Given the description of an element on the screen output the (x, y) to click on. 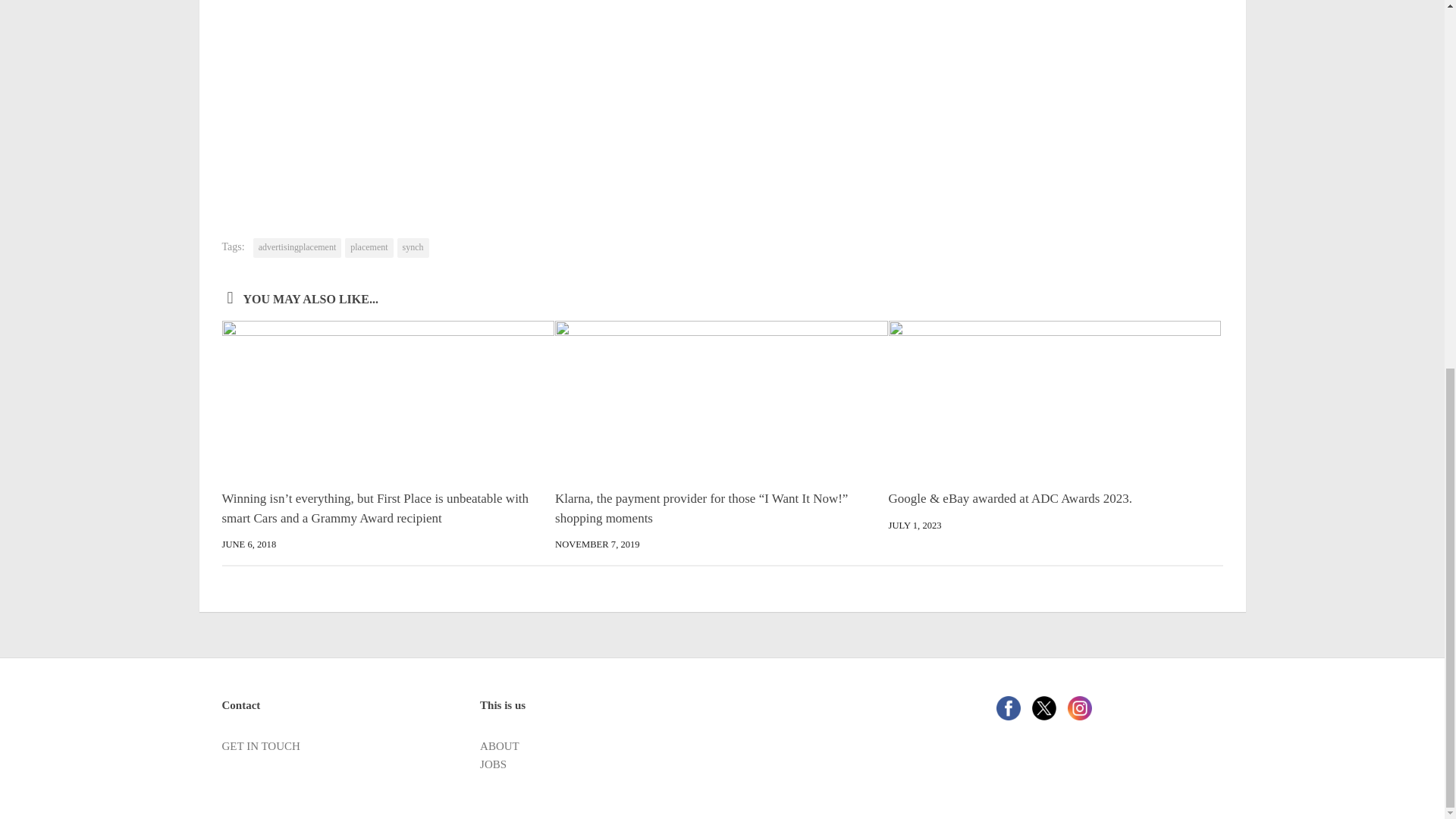
GET IN TOUCH (260, 746)
placement (369, 247)
advertisingplacement (297, 247)
synch (413, 247)
